Given the description of an element on the screen output the (x, y) to click on. 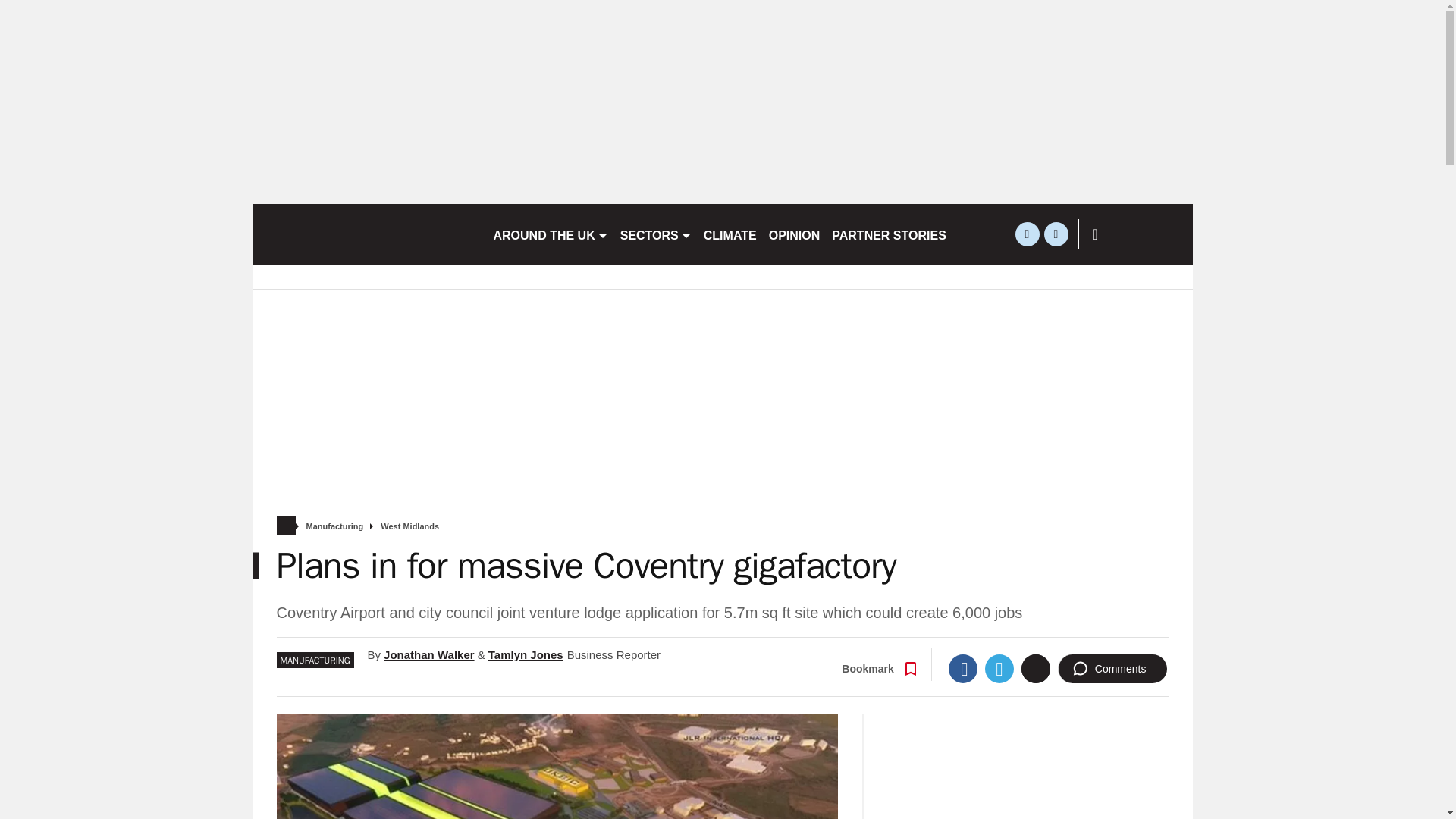
AROUND THE UK (549, 233)
birminghampost (365, 233)
Twitter (999, 668)
OPINION (794, 233)
PARTNER STORIES (888, 233)
Comments (1112, 668)
SECTORS (655, 233)
linkedin (1055, 233)
Facebook (962, 668)
twitter (1026, 233)
CLIMATE (729, 233)
